Given the description of an element on the screen output the (x, y) to click on. 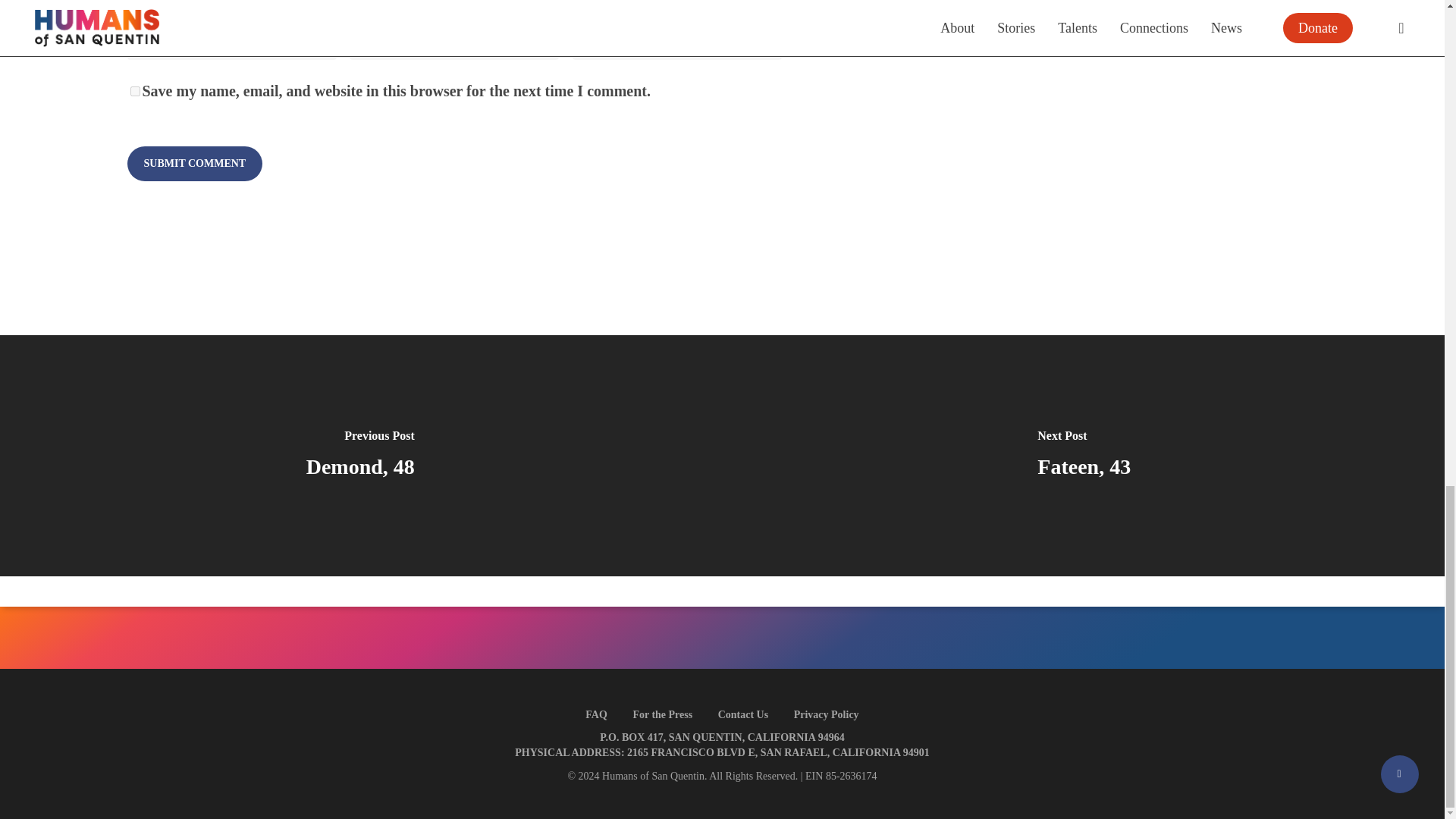
yes (135, 91)
Submit Comment (195, 163)
